Given the description of an element on the screen output the (x, y) to click on. 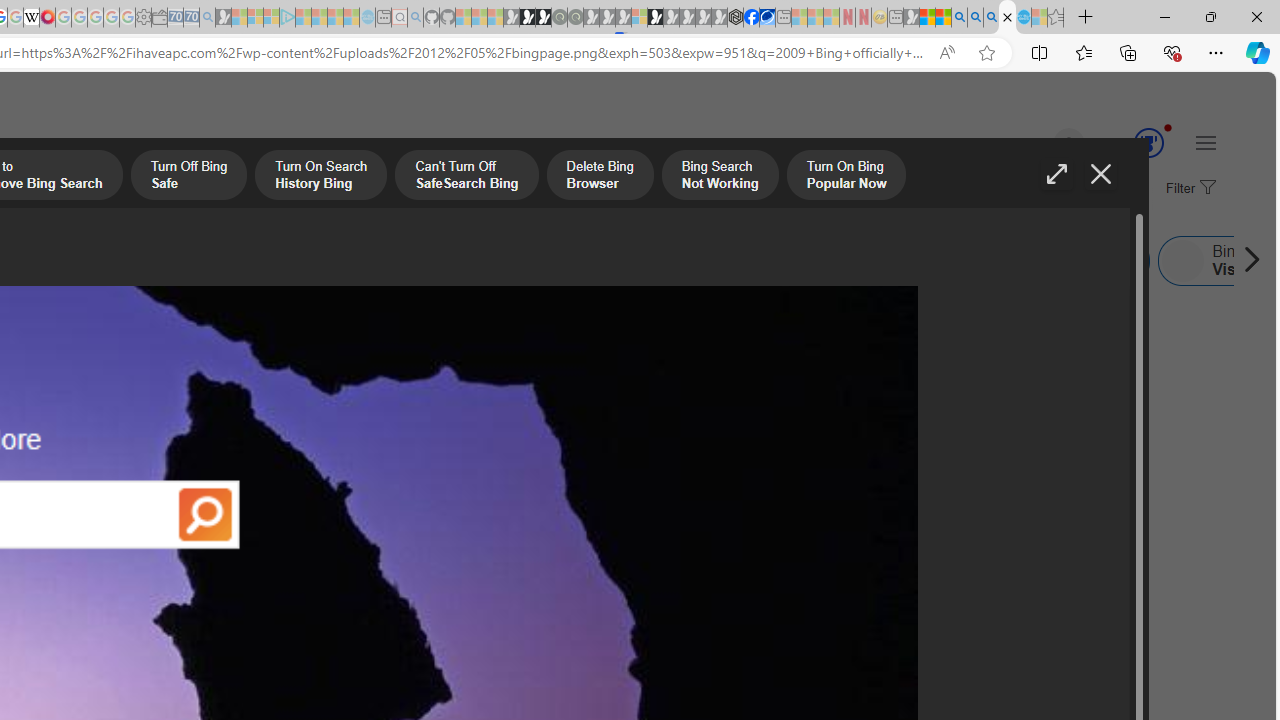
Bing Search Not Working (719, 177)
Wallet - Sleeping (159, 17)
New tab - Sleeping (895, 17)
Home | Sky Blue Bikes - Sky Blue Bikes - Sleeping (367, 17)
Owner of Bing Search Engine (680, 260)
Settings - Sleeping (143, 17)
Technology History timeline | Timetoast timelines (185, 508)
Future Focus Report 2024 - Sleeping (575, 17)
Cheap Car Rentals - Save70.com - Sleeping (191, 17)
